Given the description of an element on the screen output the (x, y) to click on. 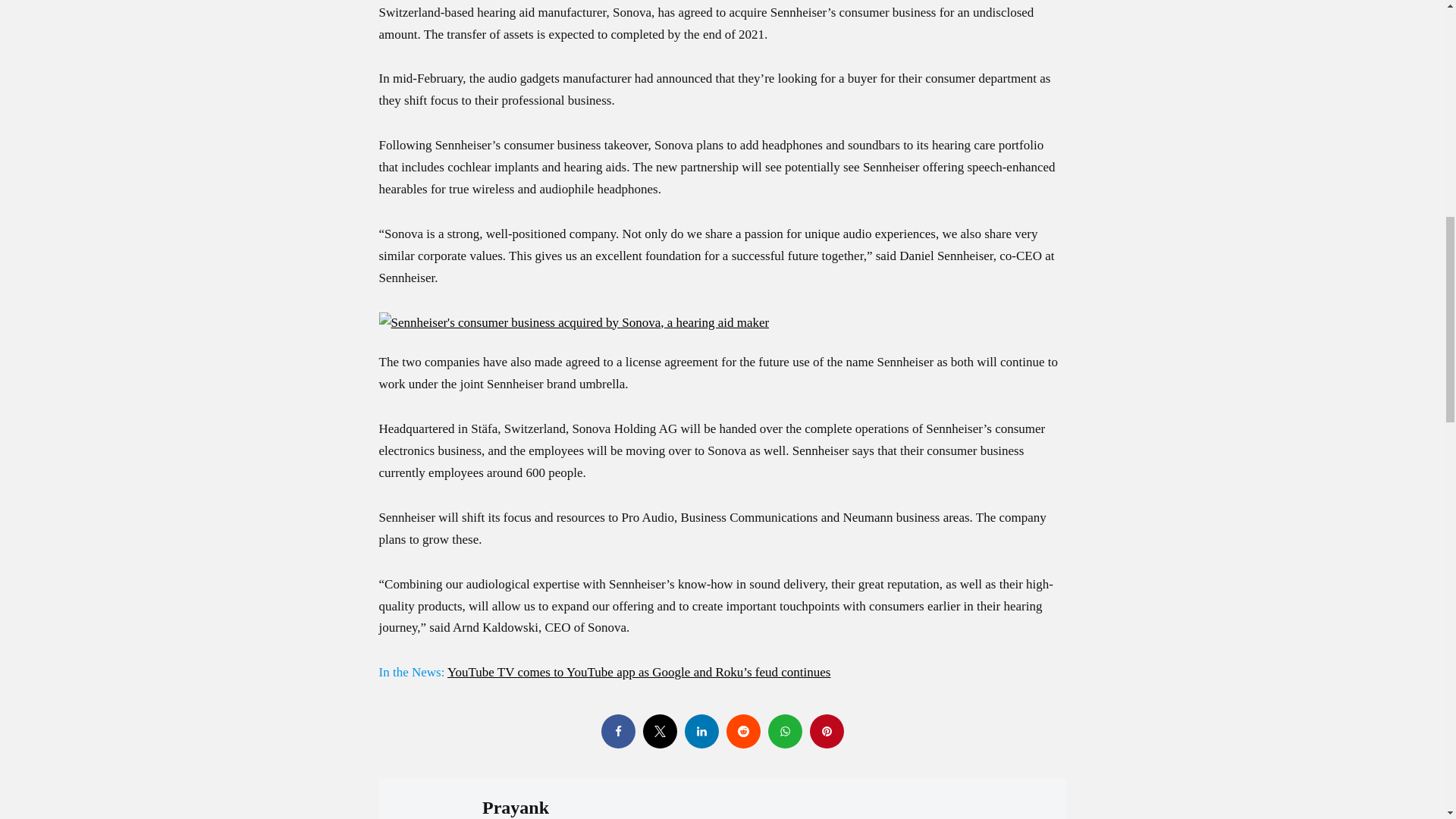
Pinterest (826, 731)
Linkedin (700, 731)
Whatsapp (784, 731)
Reddit (743, 731)
Facebook (616, 731)
Twitter (660, 731)
